Given the description of an element on the screen output the (x, y) to click on. 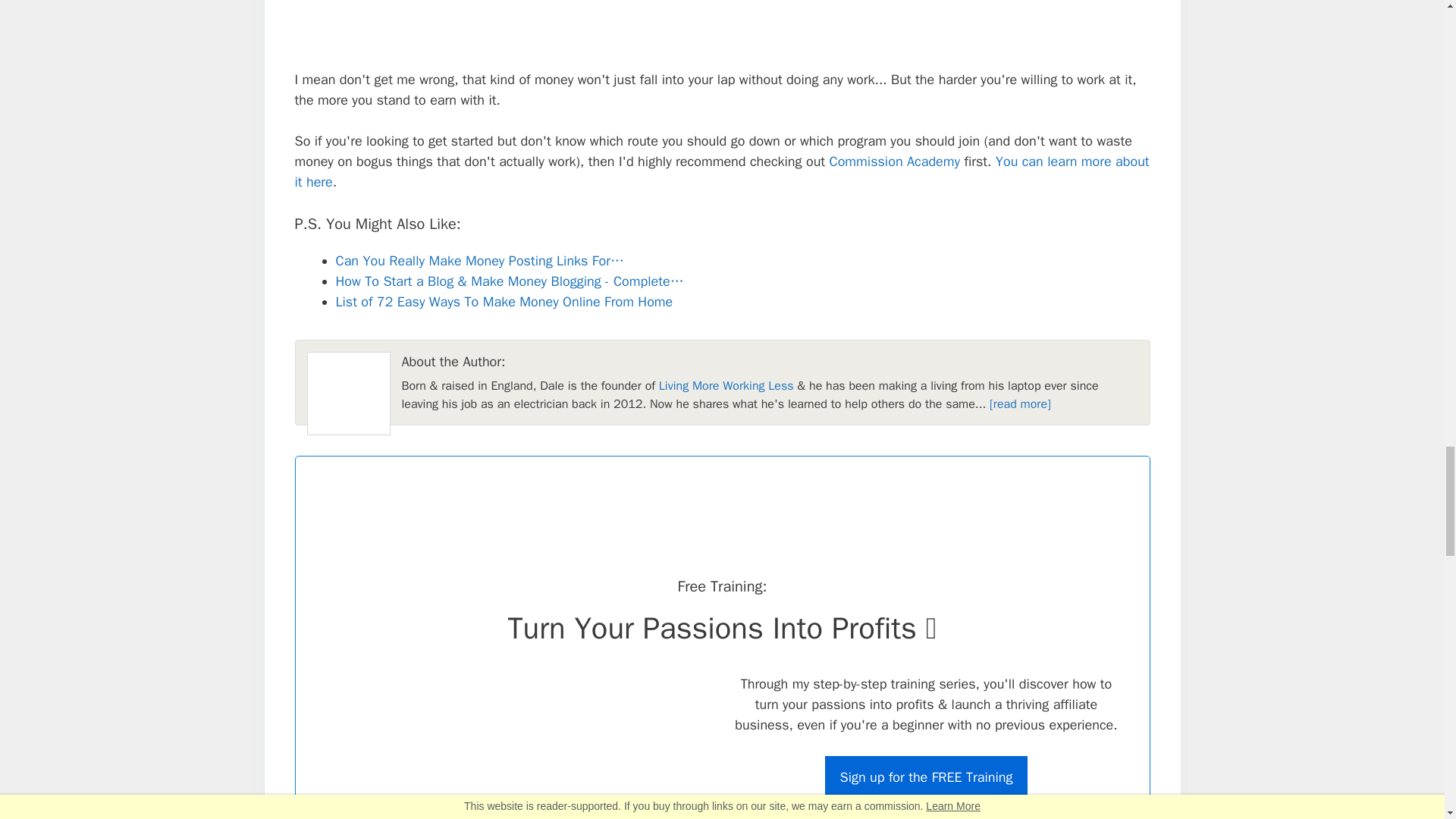
Living More Working Less (726, 385)
List of 72 Easy Ways To Make Money Online From Home (503, 301)
Read More (1020, 403)
Commission Academy (894, 161)
You can learn more about it here (721, 171)
Sign up for the FREE Training (926, 777)
